Given the description of an element on the screen output the (x, y) to click on. 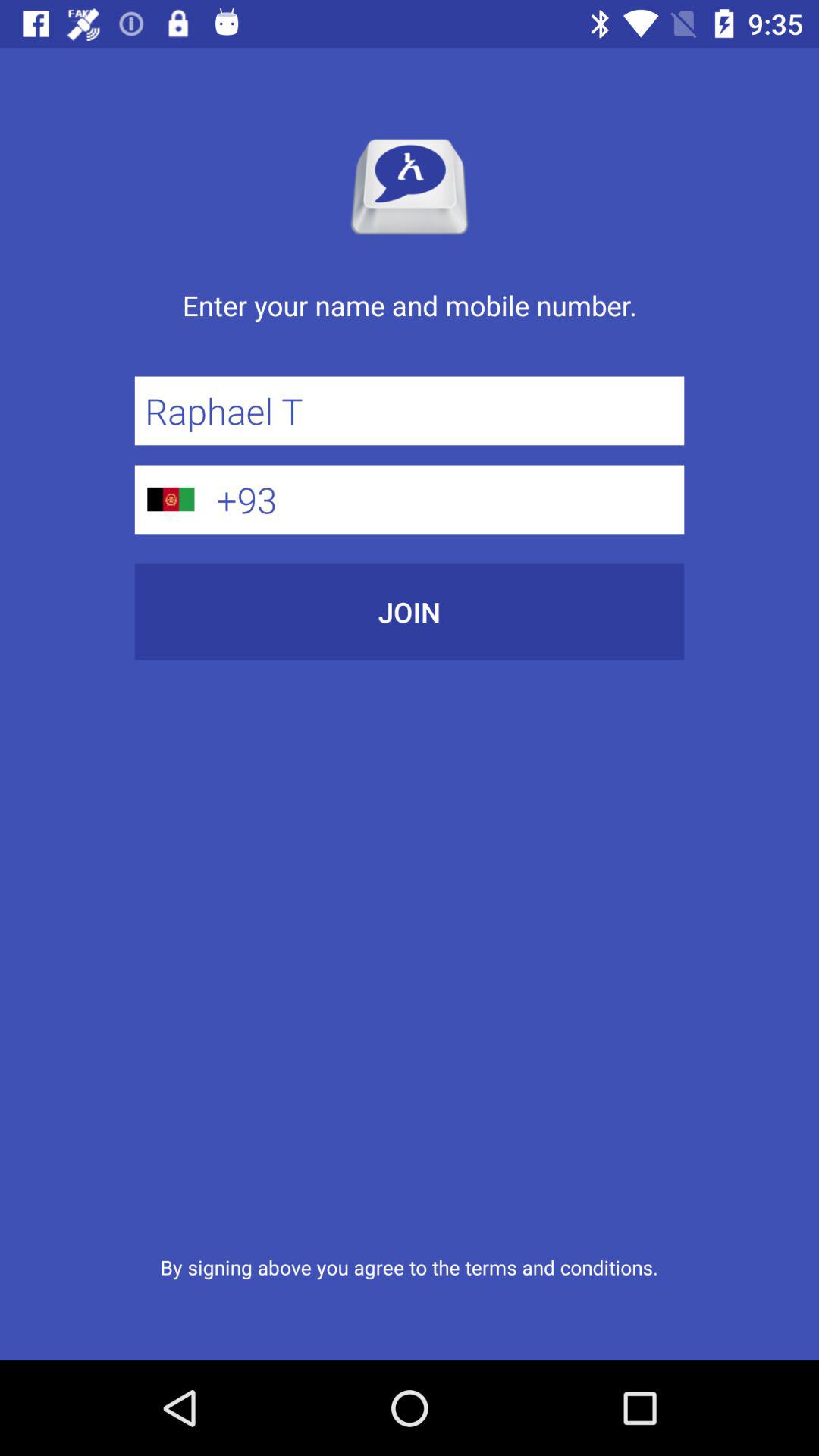
swipe to enter your name (409, 321)
